Given the description of an element on the screen output the (x, y) to click on. 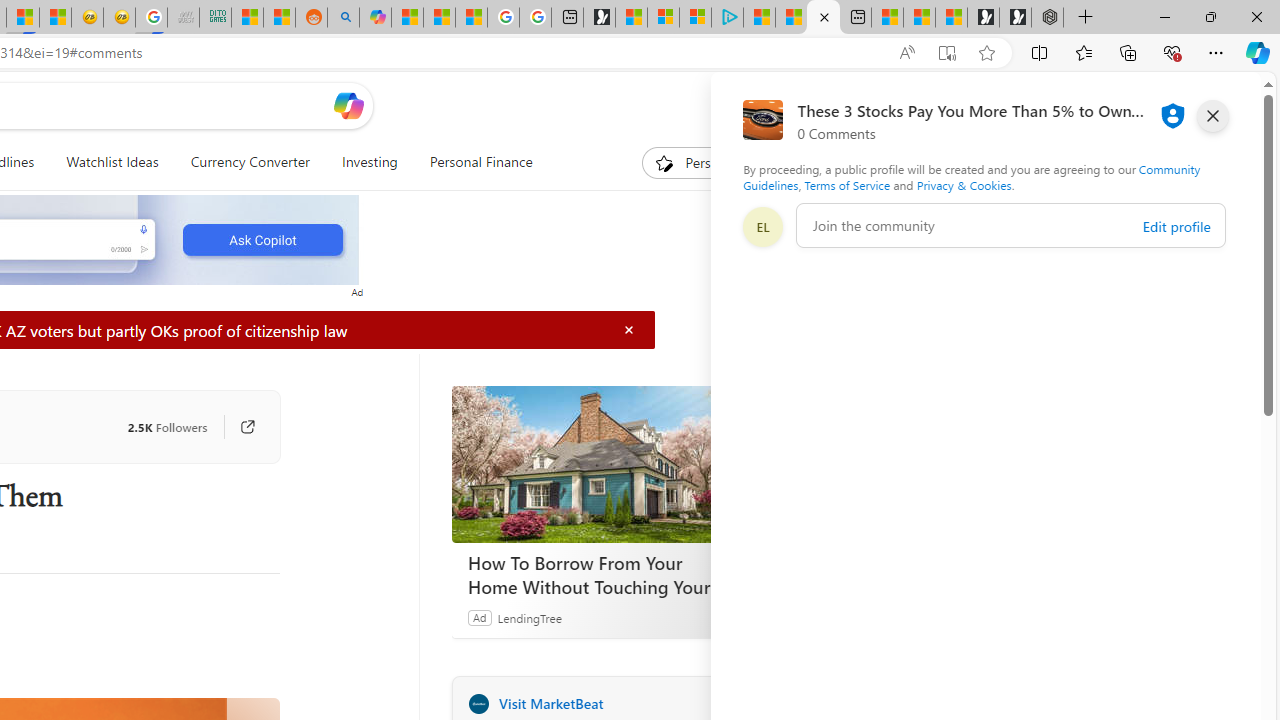
Currency Converter (250, 162)
comment-box (1011, 225)
Personal Finance (472, 162)
Edit profile (1175, 226)
Investing (369, 162)
close (1212, 115)
MarketBeat (478, 703)
